Given the description of an element on the screen output the (x, y) to click on. 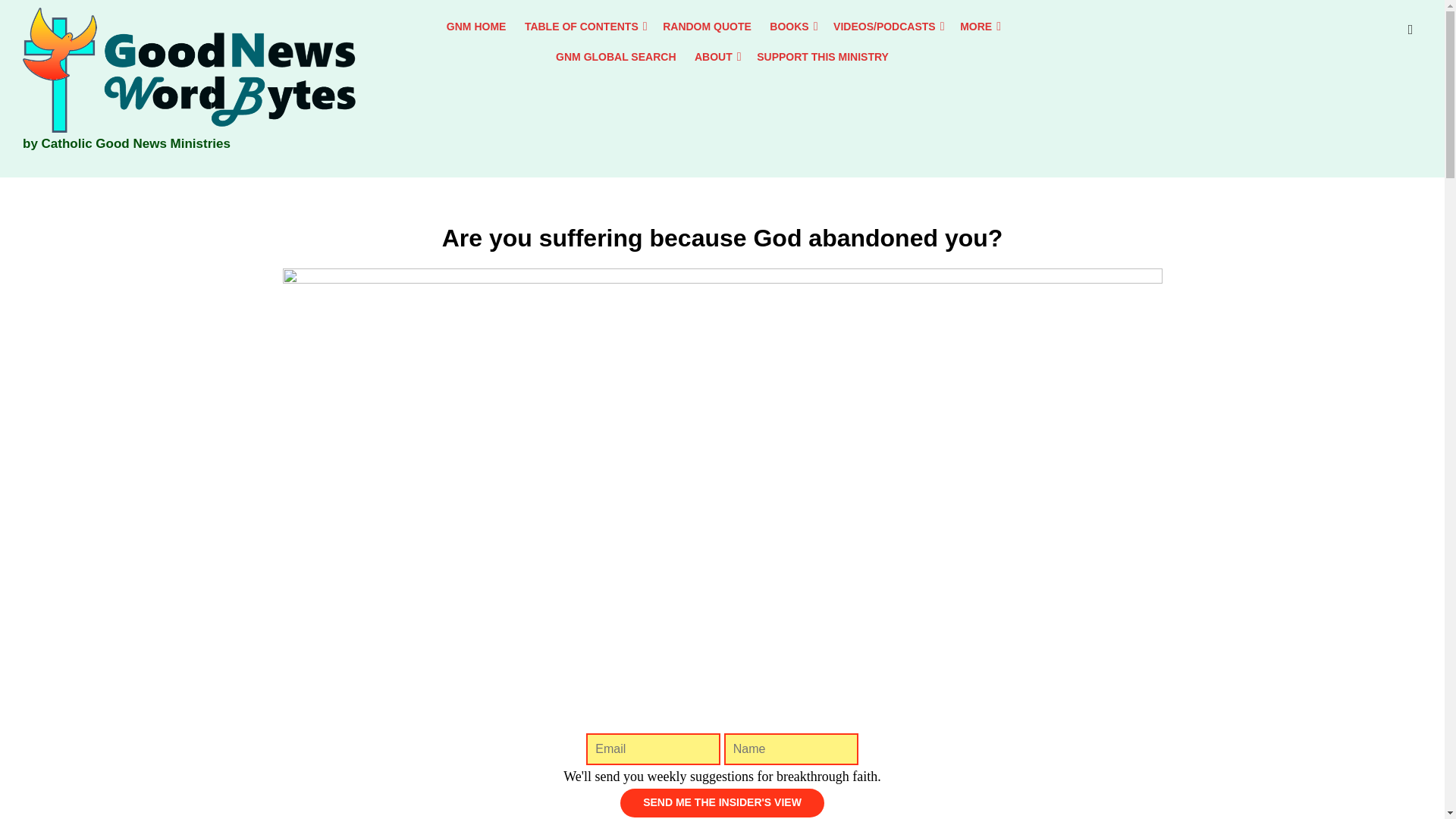
Send me the Insider's View (722, 802)
